Given the description of an element on the screen output the (x, y) to click on. 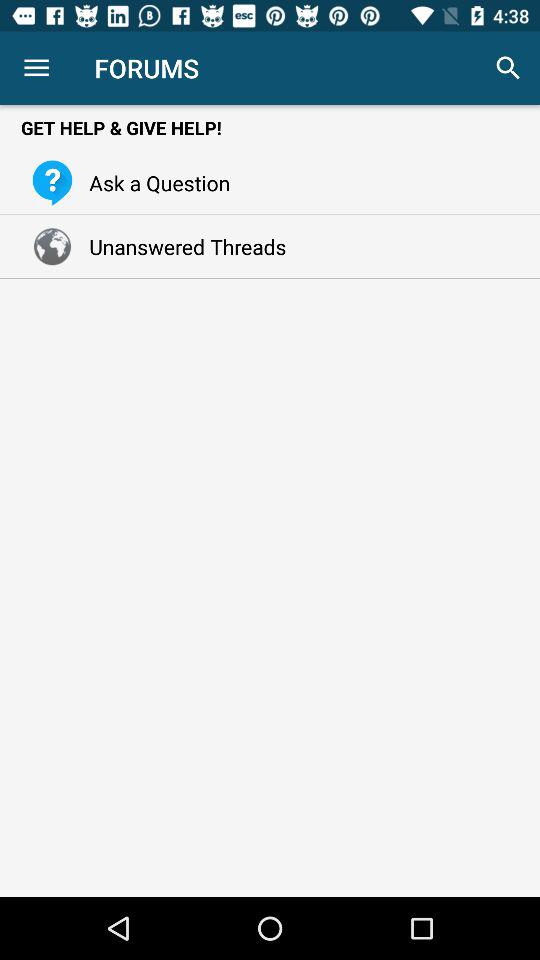
click unanswered threads item (182, 246)
